Given the description of an element on the screen output the (x, y) to click on. 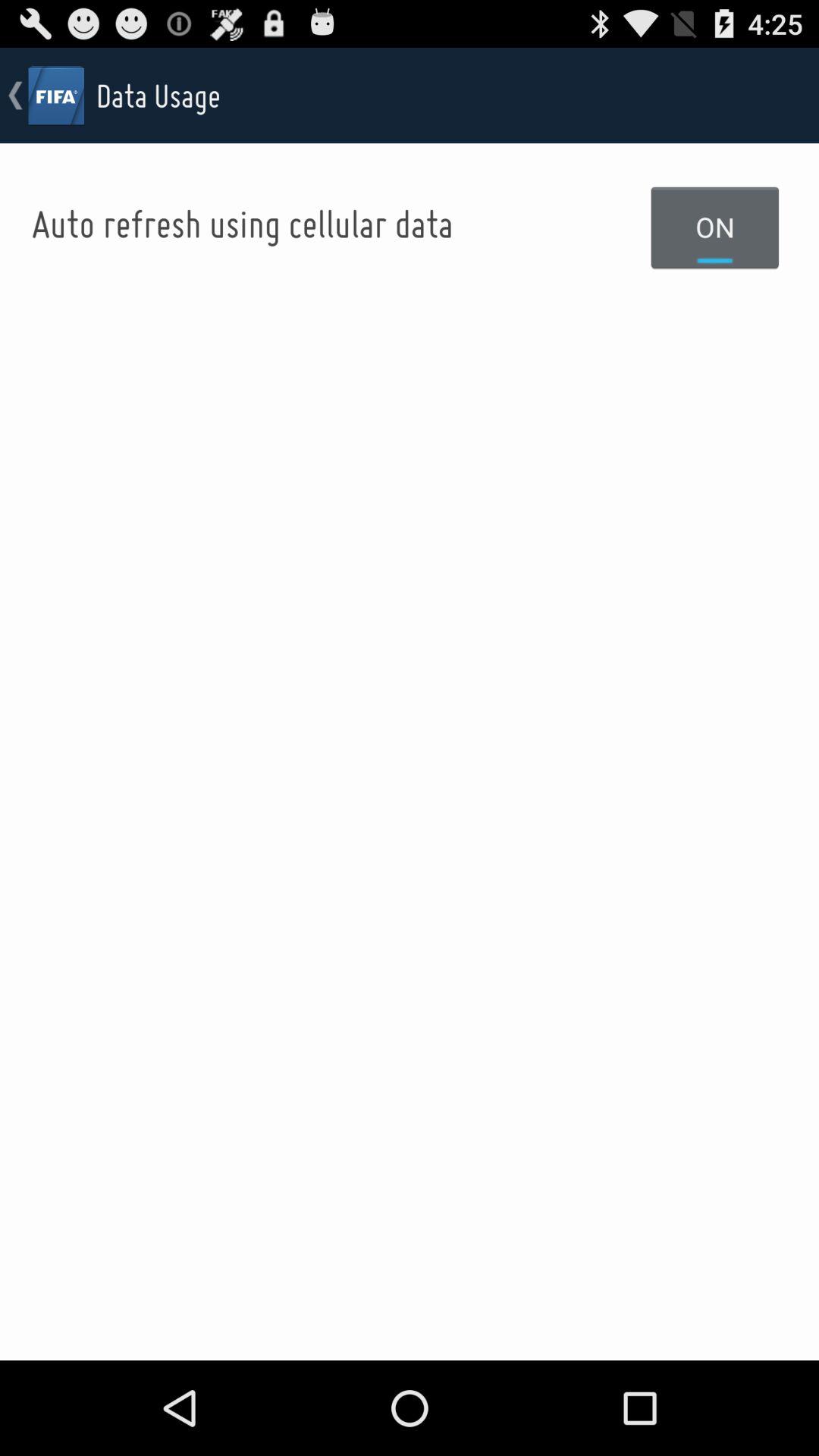
jump until the on item (714, 226)
